Given the description of an element on the screen output the (x, y) to click on. 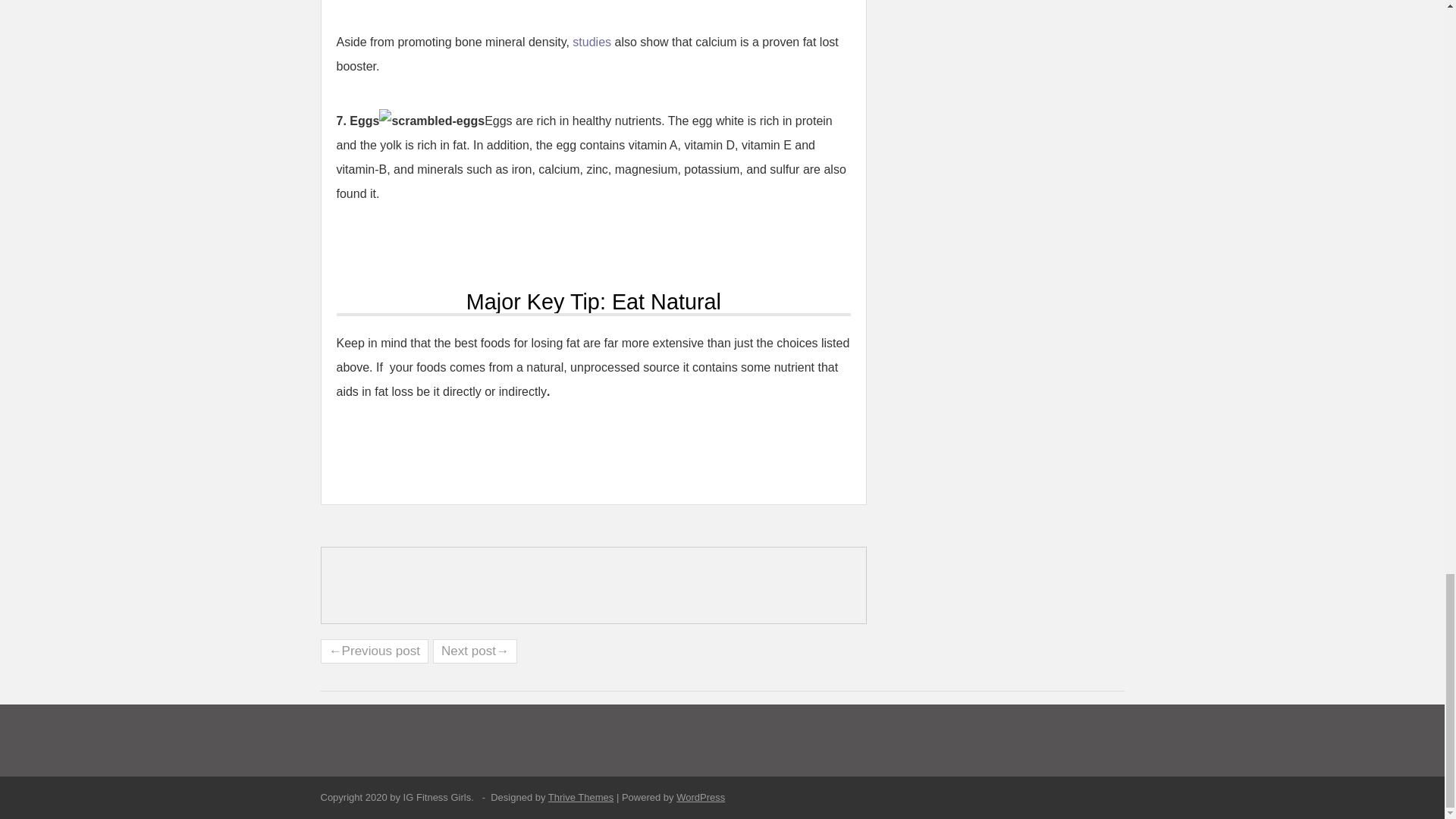
studies (591, 42)
Thrive Themes (580, 797)
WordPress (701, 797)
